Given the description of an element on the screen output the (x, y) to click on. 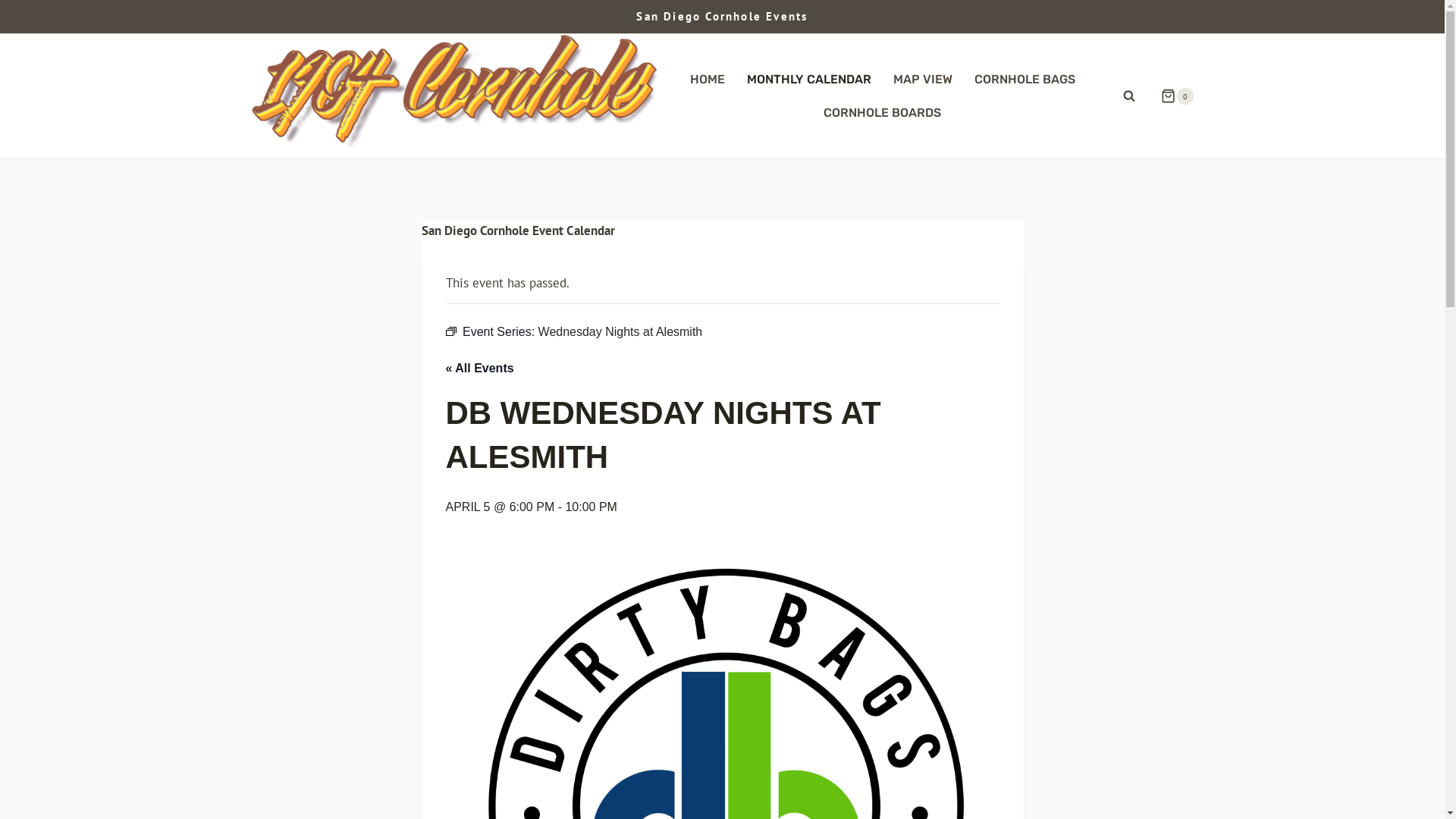
0 Element type: text (1170, 95)
MAP VIEW Element type: text (922, 79)
CORNHOLE BOARDS Element type: text (882, 113)
Wednesday Nights at Alesmith Element type: text (620, 331)
CORNHOLE BAGS Element type: text (1024, 79)
MONTHLY CALENDAR Element type: text (809, 79)
HOME Element type: text (707, 79)
